Given the description of an element on the screen output the (x, y) to click on. 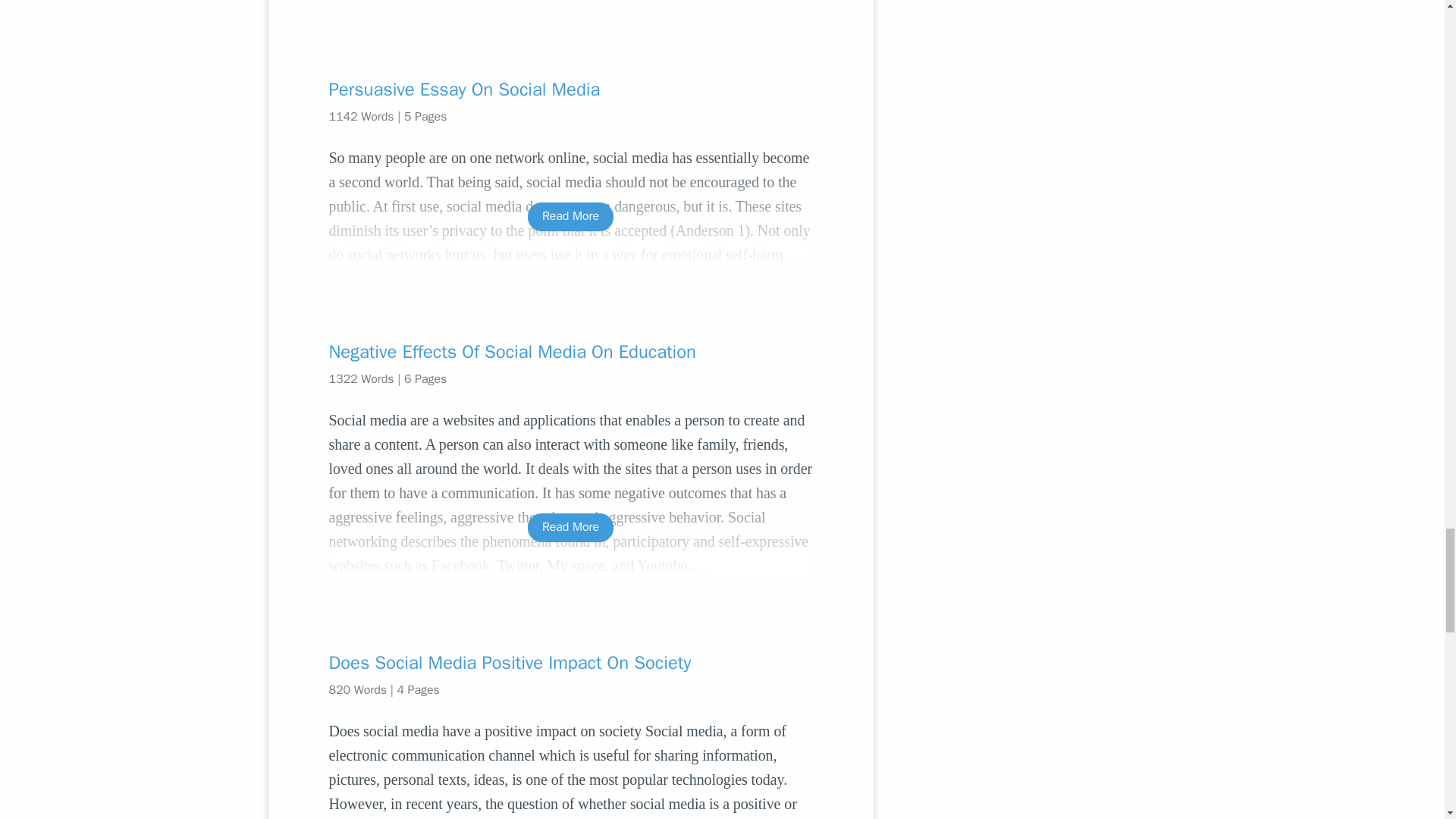
Persuasive Essay On Social Media (570, 88)
Negative Effects Of Social Media On Education (570, 351)
Read More (569, 216)
